Given the description of an element on the screen output the (x, y) to click on. 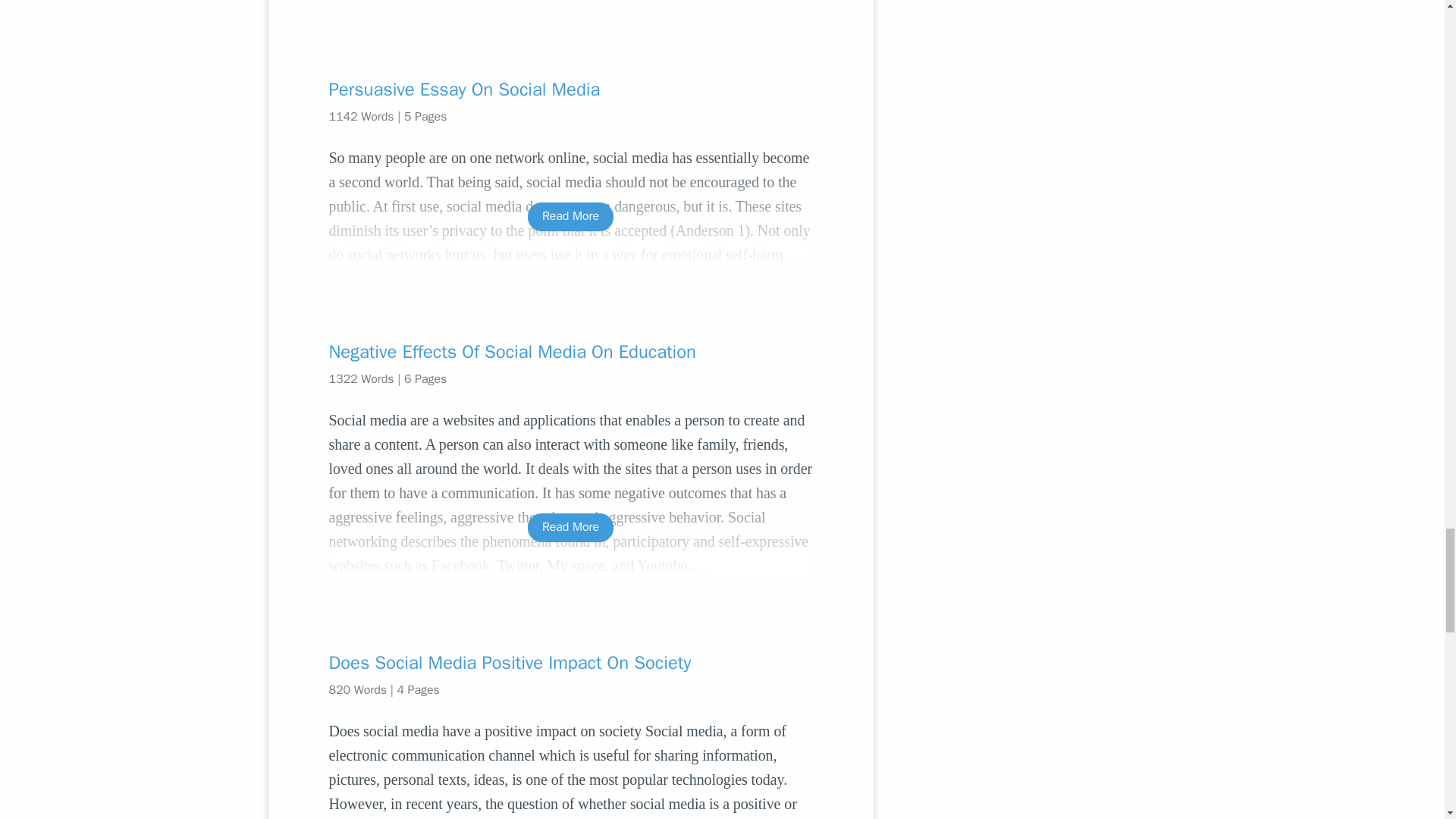
Persuasive Essay On Social Media (570, 88)
Negative Effects Of Social Media On Education (570, 351)
Read More (569, 216)
